Given the description of an element on the screen output the (x, y) to click on. 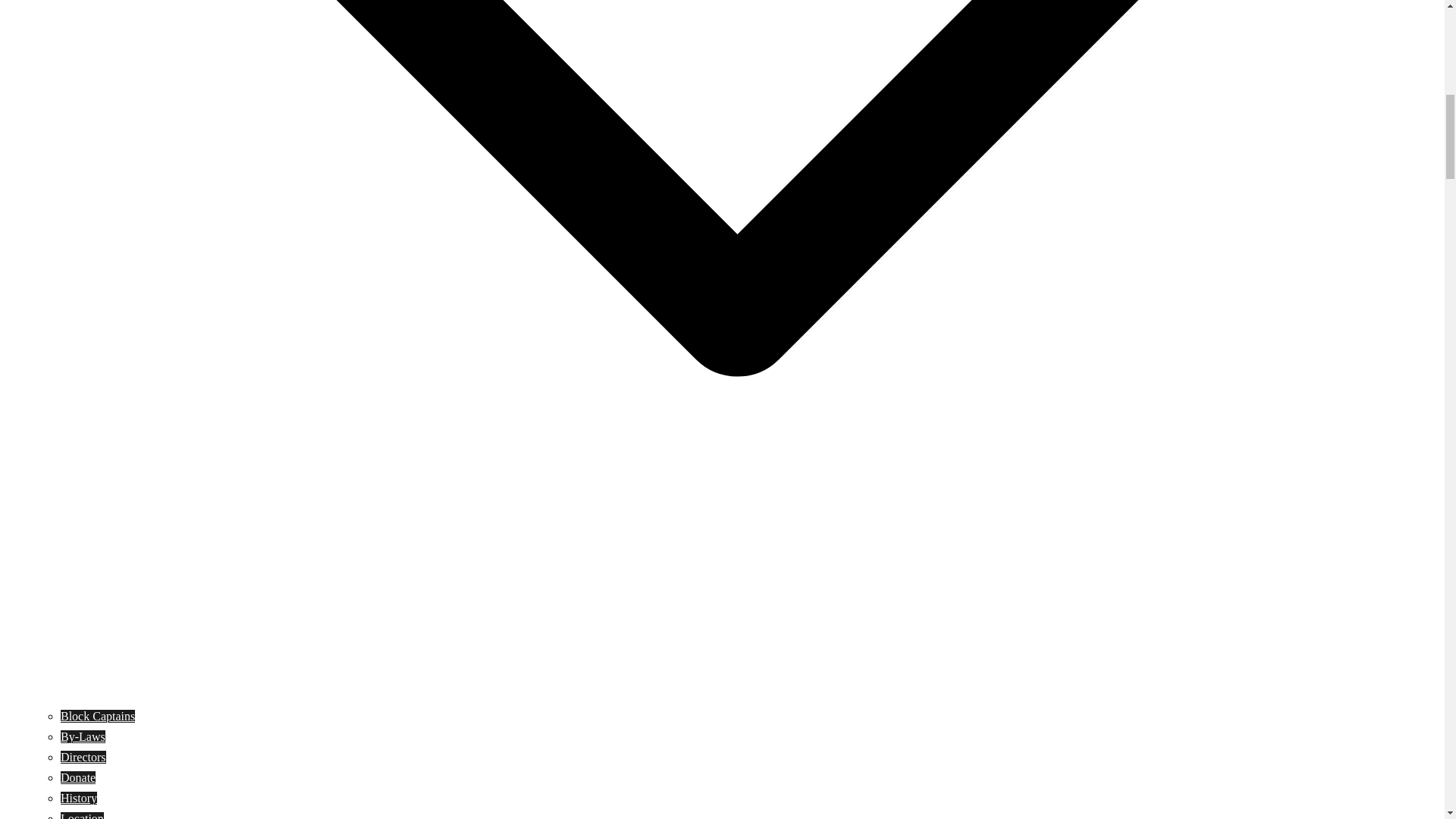
Donate to Gladstone Manor (78, 777)
Donate (78, 777)
Gladstone Manor Block Captains (98, 716)
Gladstone Manor Officers (83, 757)
Gladstone Manor History (79, 797)
Location (82, 815)
History (79, 797)
Block Captains (98, 716)
Gladstone Manor Location (82, 815)
Directors (83, 757)
By-Laws (82, 736)
